Given the description of an element on the screen output the (x, y) to click on. 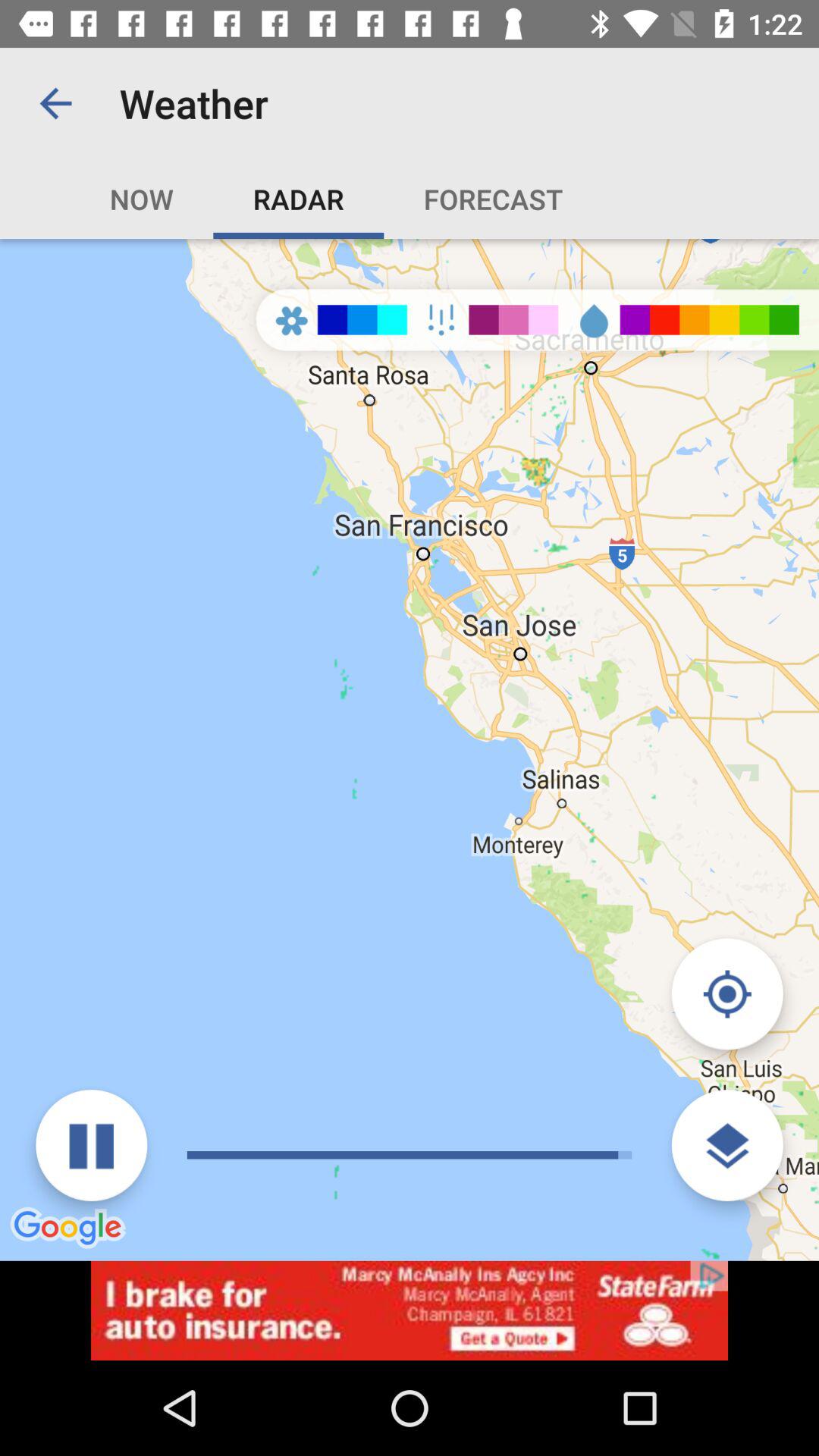
click navigate (727, 993)
